Given the description of an element on the screen output the (x, y) to click on. 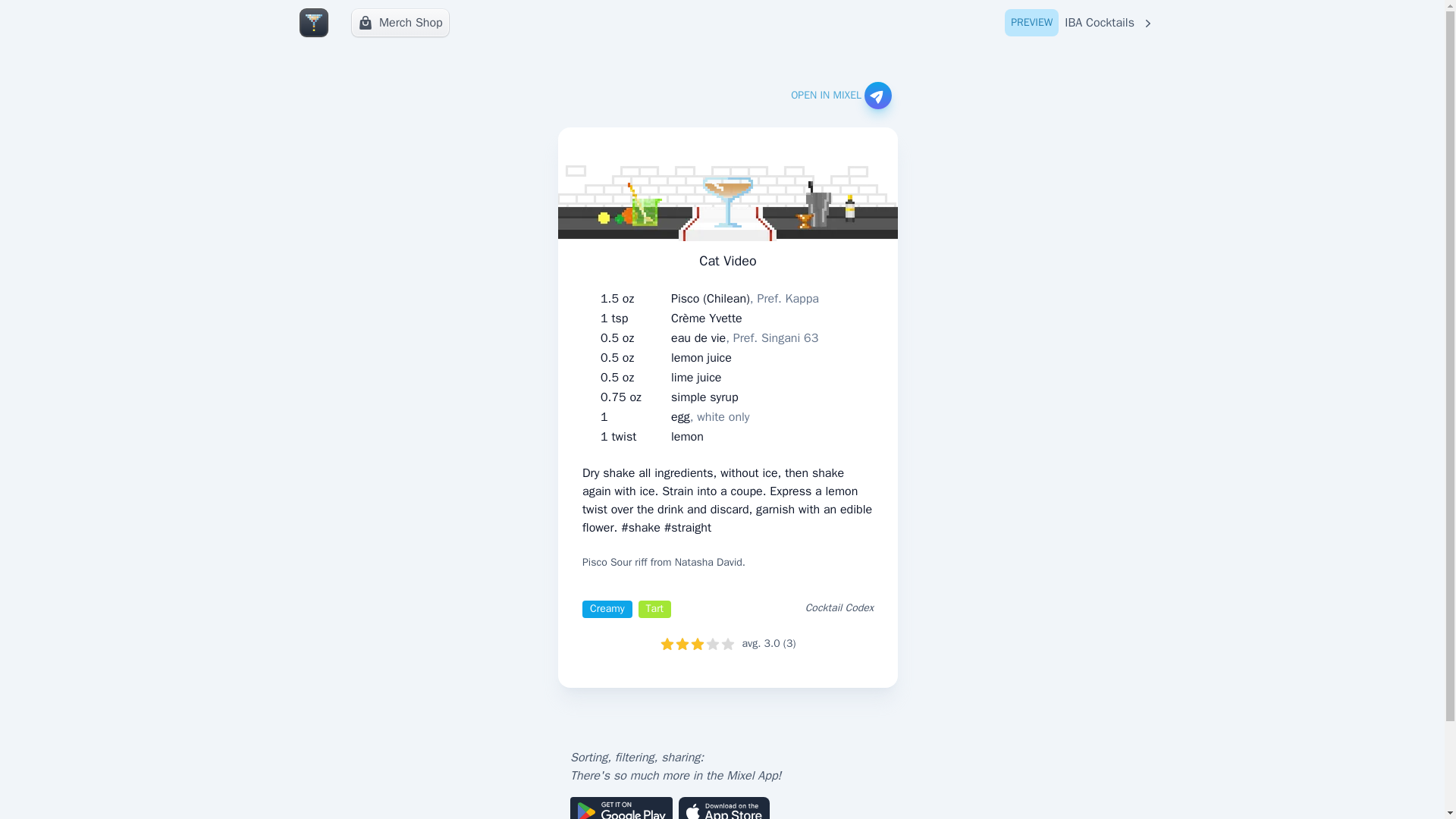
lime juice (695, 377)
OPEN IN MIXEL (840, 94)
lemon (687, 436)
egg, white only (710, 416)
lemon juice (701, 357)
simple syrup (704, 397)
Merch Shop (400, 22)
eau de vie, Pref. Singani 63 (744, 338)
